Given the description of an element on the screen output the (x, y) to click on. 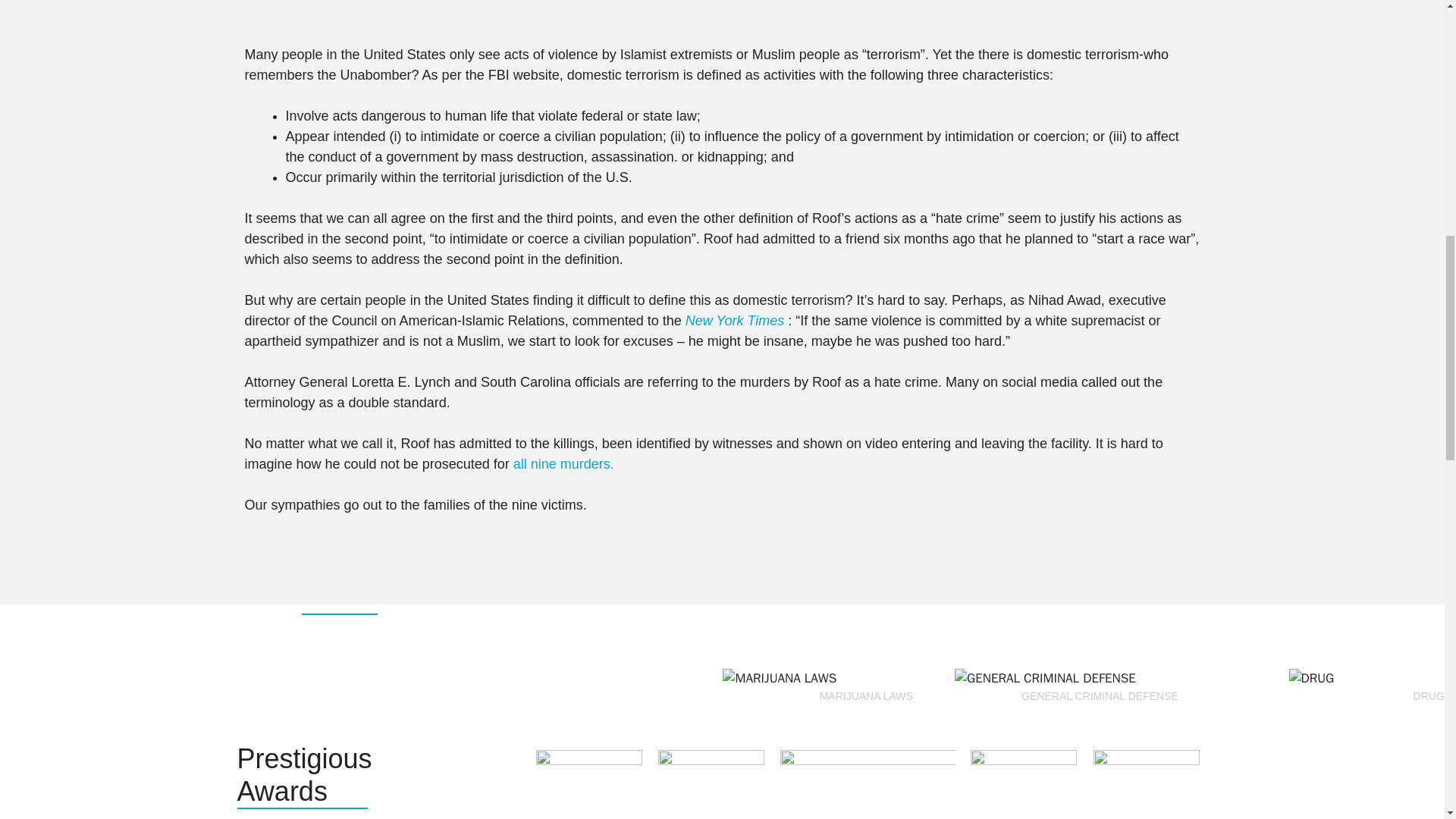
all nine murders. (563, 463)
New York Times (737, 320)
